Given the description of an element on the screen output the (x, y) to click on. 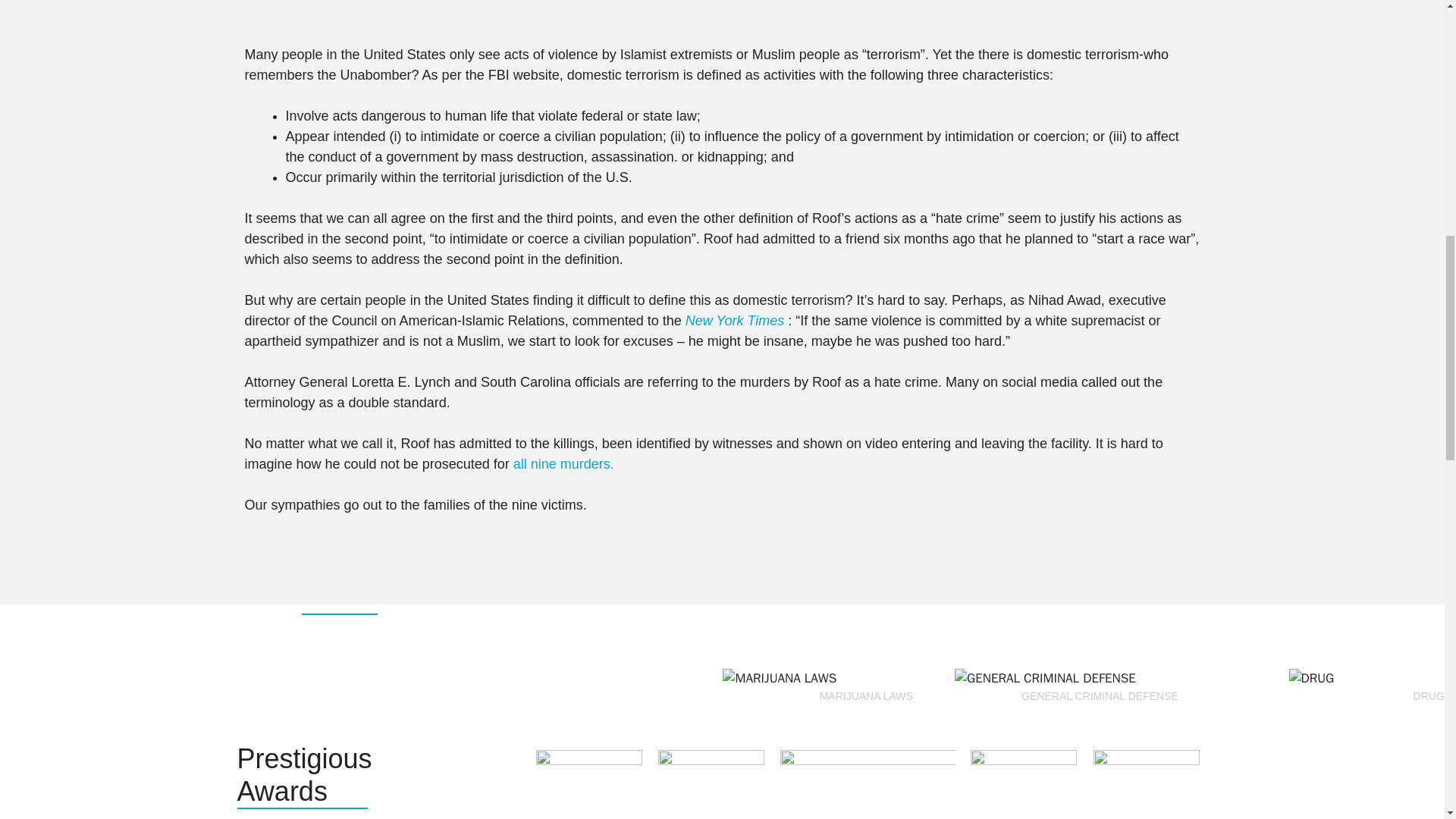
all nine murders. (563, 463)
New York Times (737, 320)
